Given the description of an element on the screen output the (x, y) to click on. 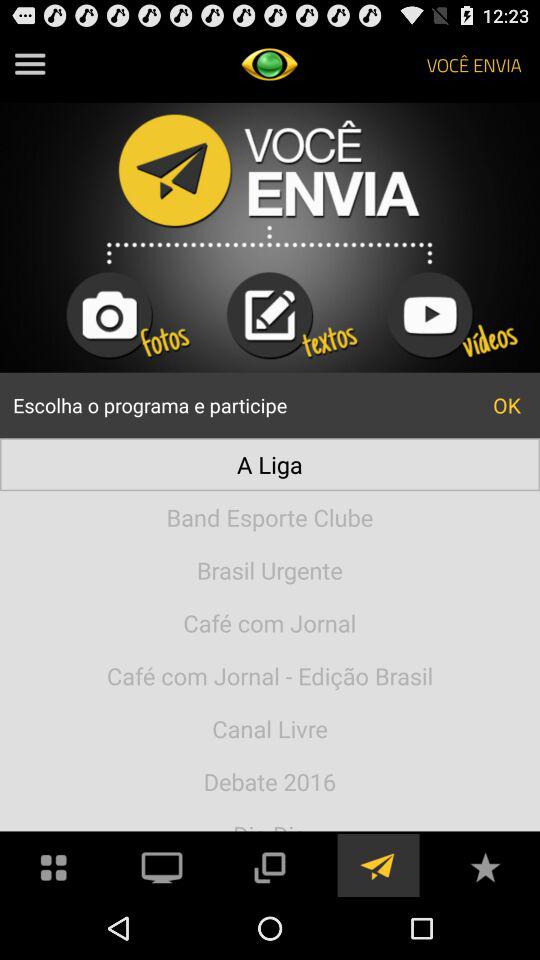
select option as favorite (485, 865)
